Given the description of an element on the screen output the (x, y) to click on. 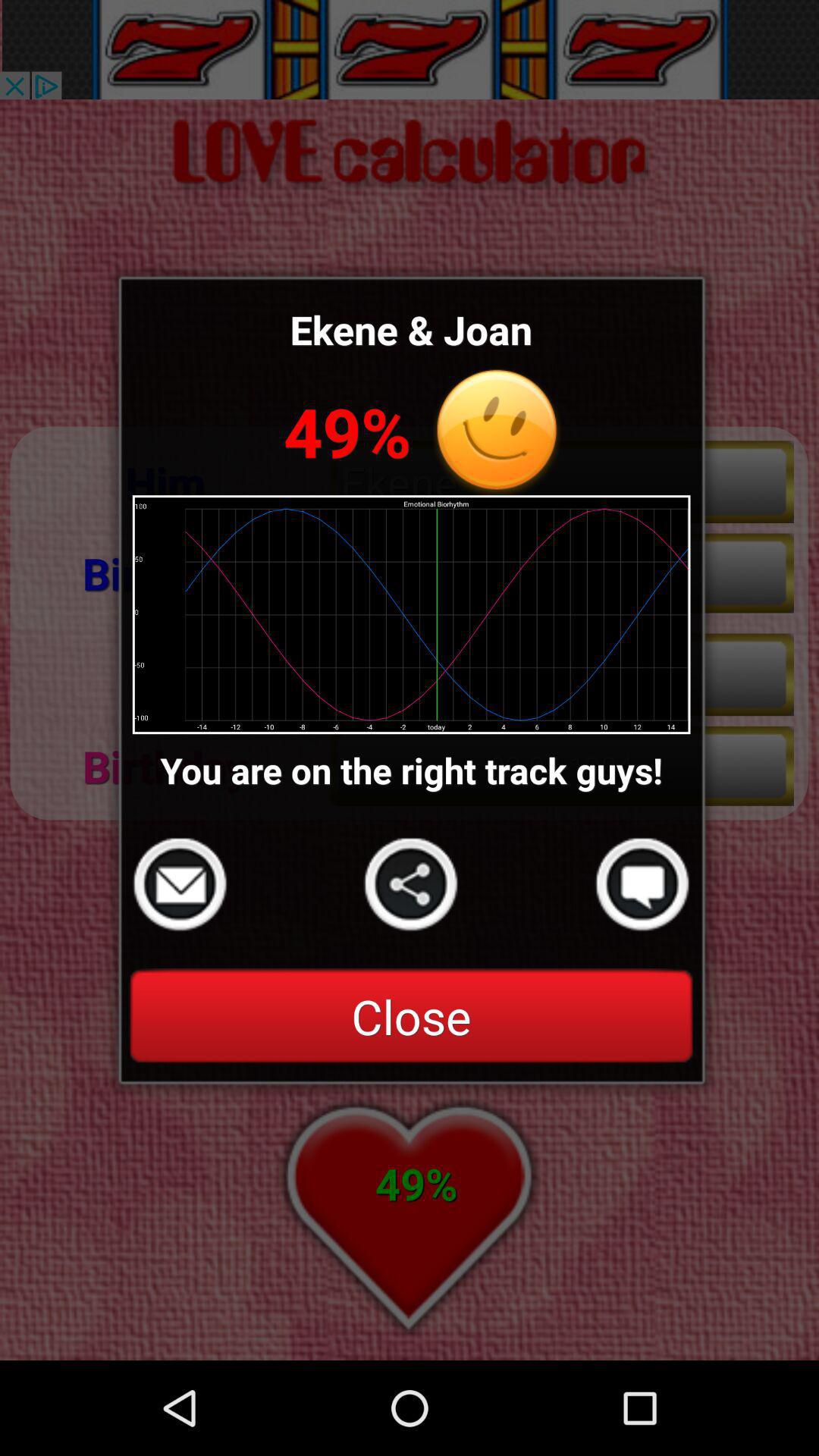
message (642, 884)
